Given the description of an element on the screen output the (x, y) to click on. 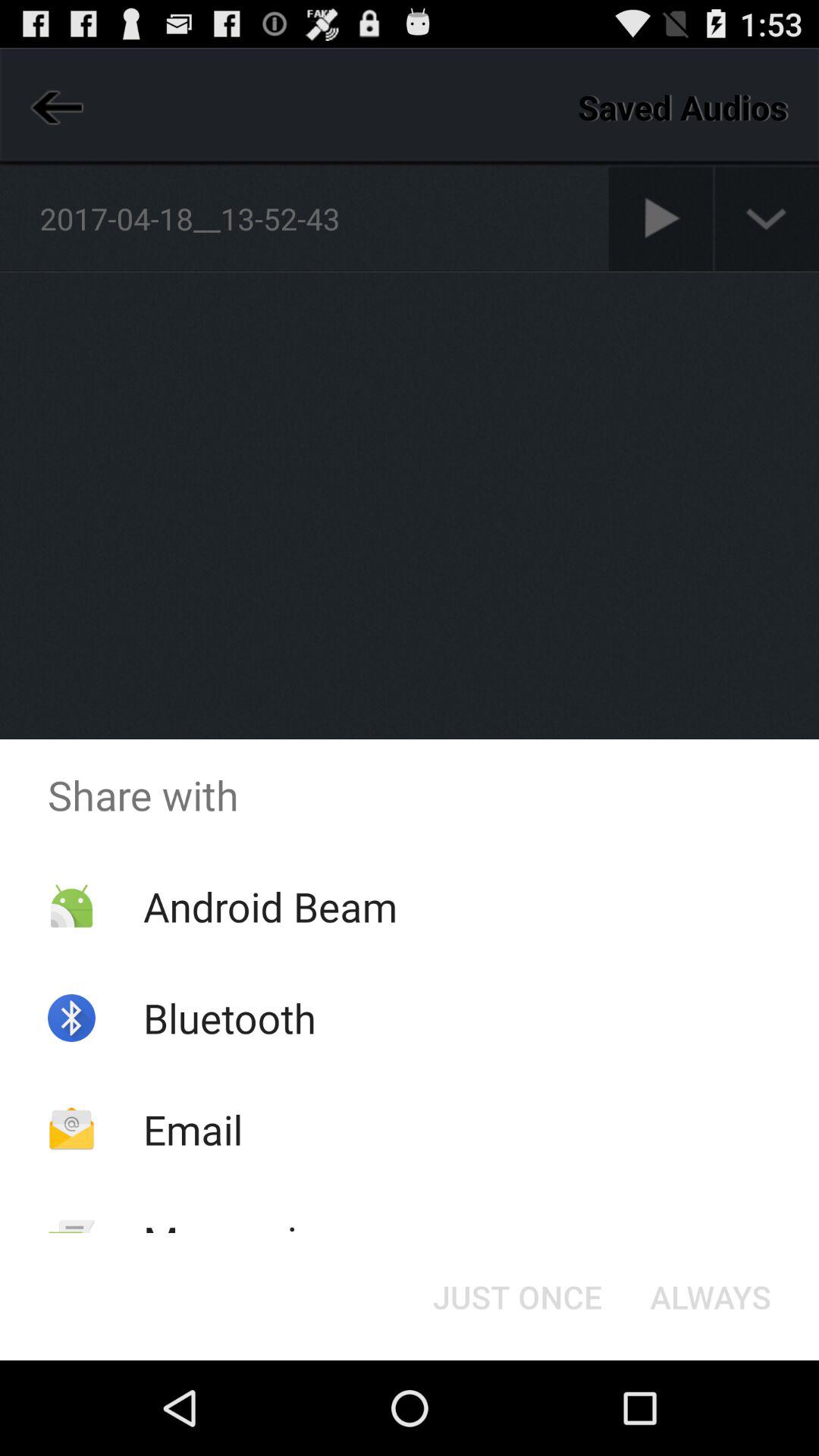
choose app next to messaging icon (517, 1296)
